Given the description of an element on the screen output the (x, y) to click on. 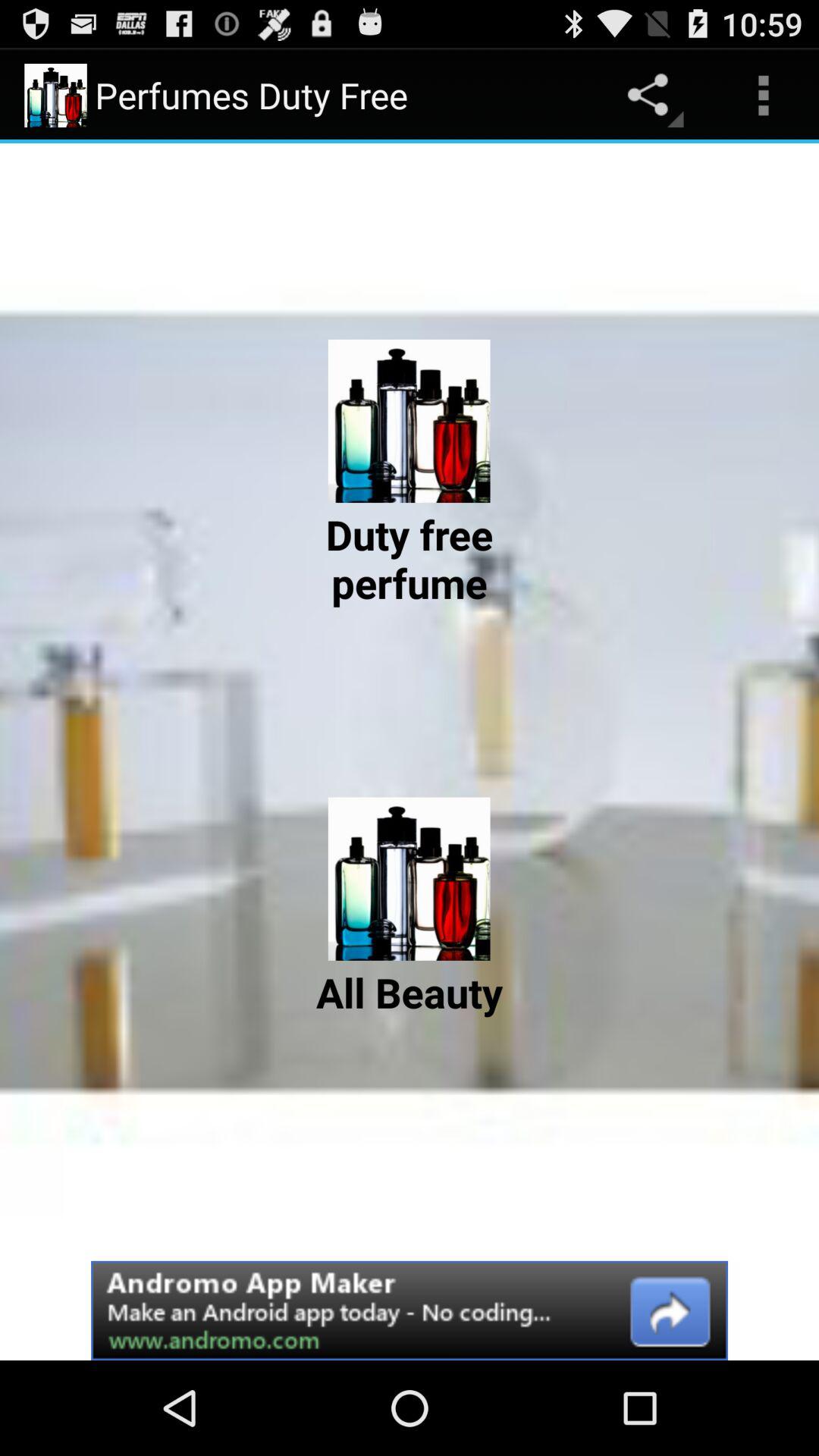
view the link in the advertisement (409, 1310)
